Given the description of an element on the screen output the (x, y) to click on. 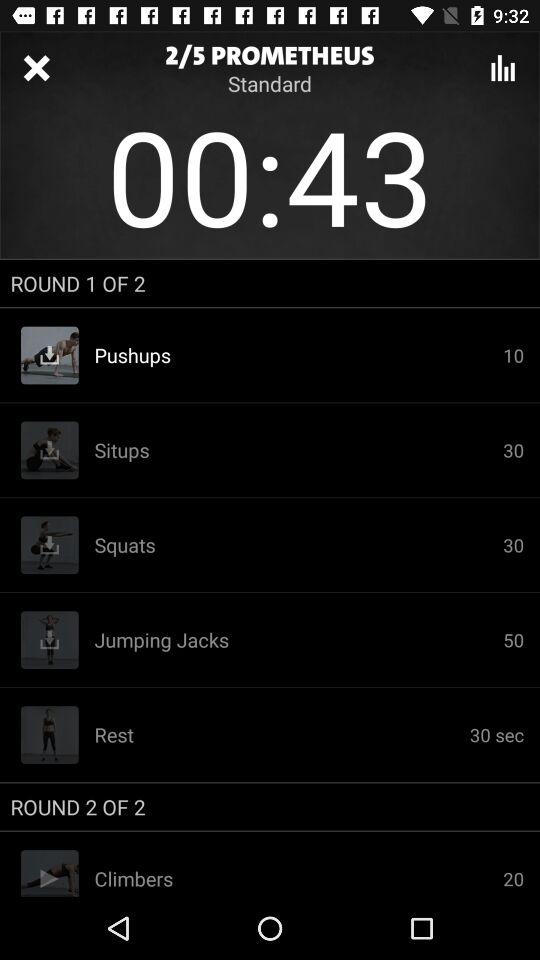
go to menu (503, 68)
